Given the description of an element on the screen output the (x, y) to click on. 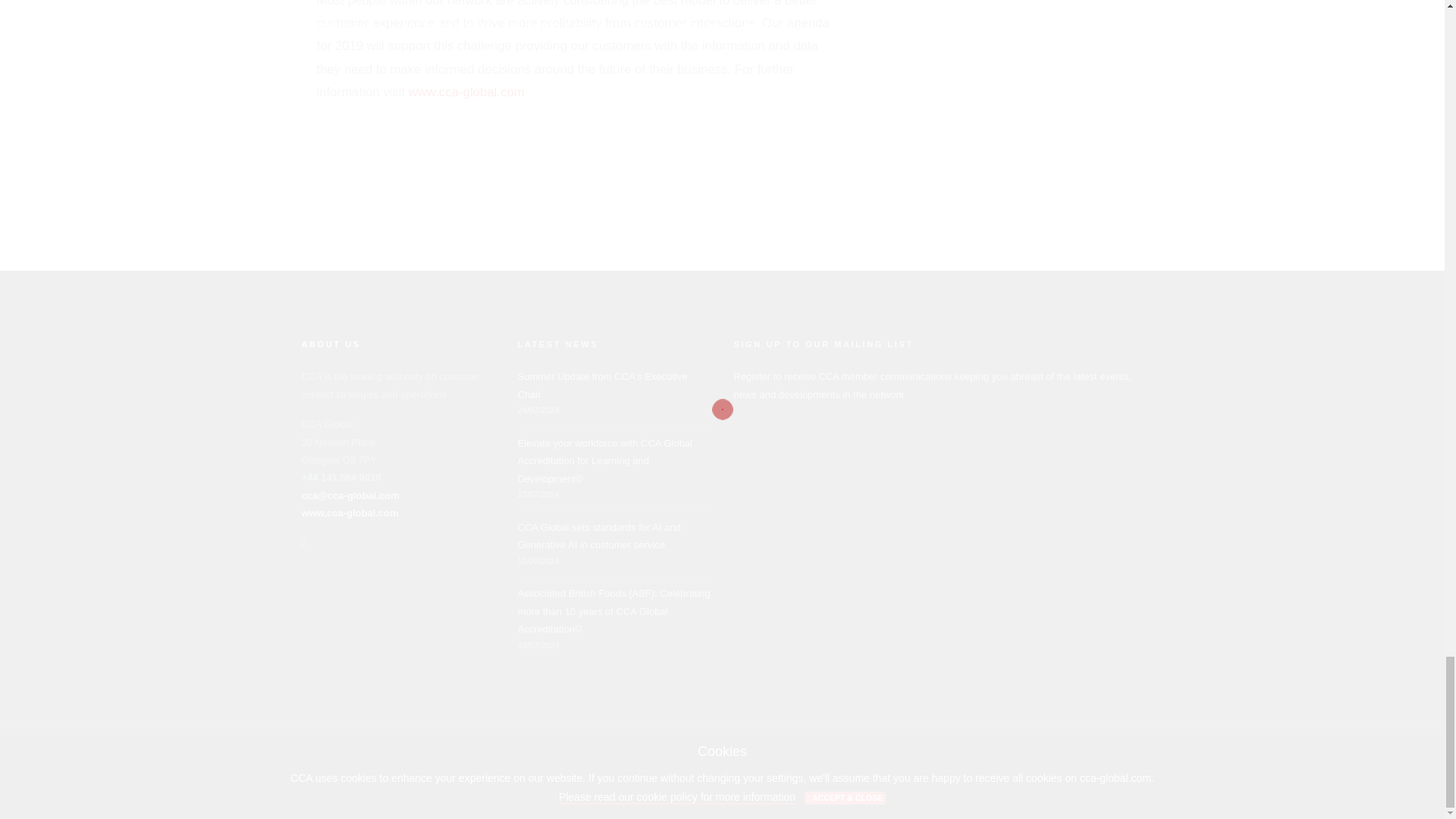
www.cca-global.com (466, 92)
